Given the description of an element on the screen output the (x, y) to click on. 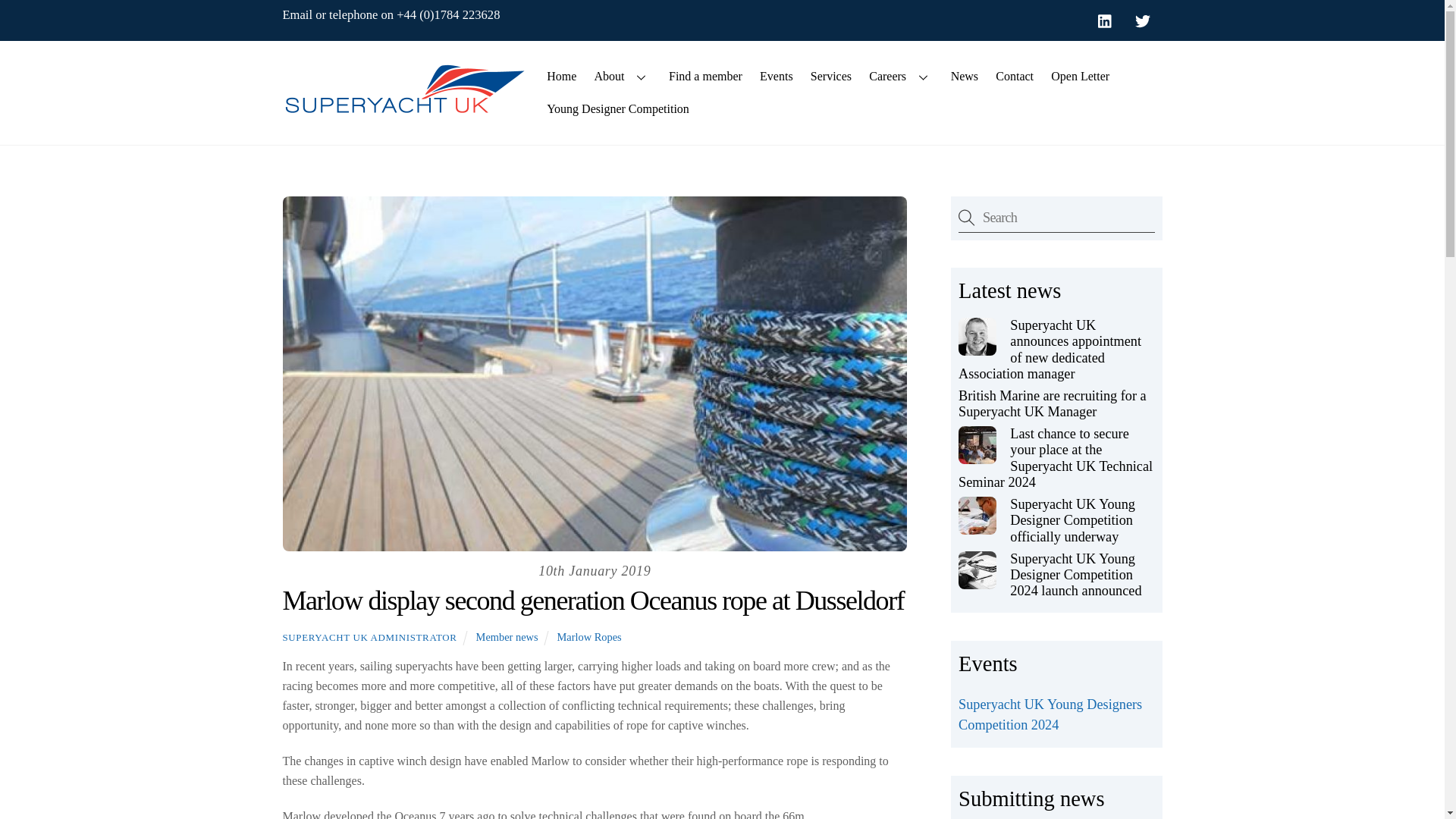
Marlow display second generation Oceanus rope at Dusseldorf (593, 600)
About (622, 75)
Open Letter (1079, 75)
Marlow Ropes (589, 636)
Events (775, 75)
Find a member (705, 75)
SYUK tech seminar (976, 444)
Superyacht UK (403, 109)
Home (561, 75)
